Given the description of an element on the screen output the (x, y) to click on. 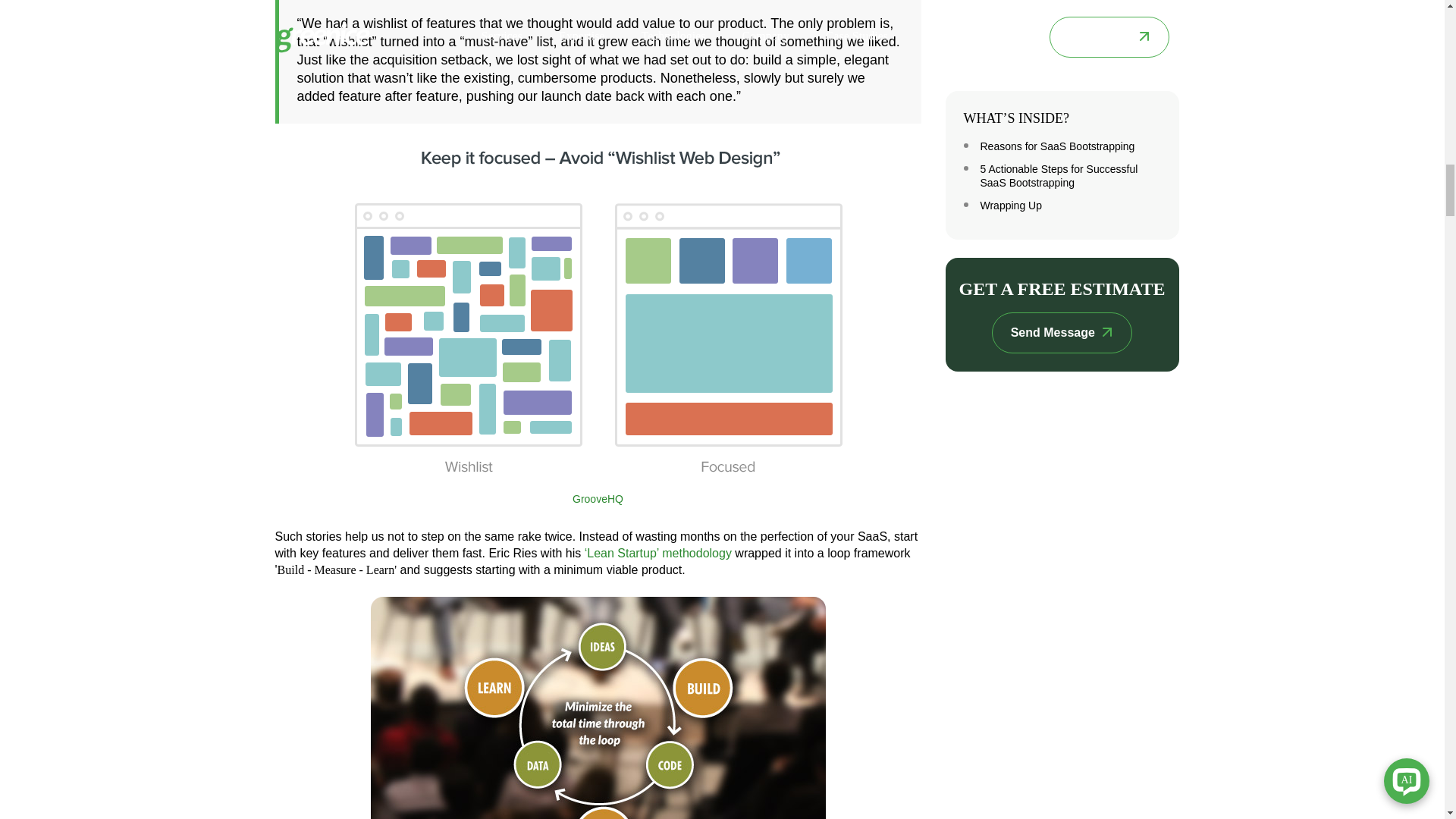
GrooveHQ (597, 499)
Lean Startup principles (597, 708)
